Given the description of an element on the screen output the (x, y) to click on. 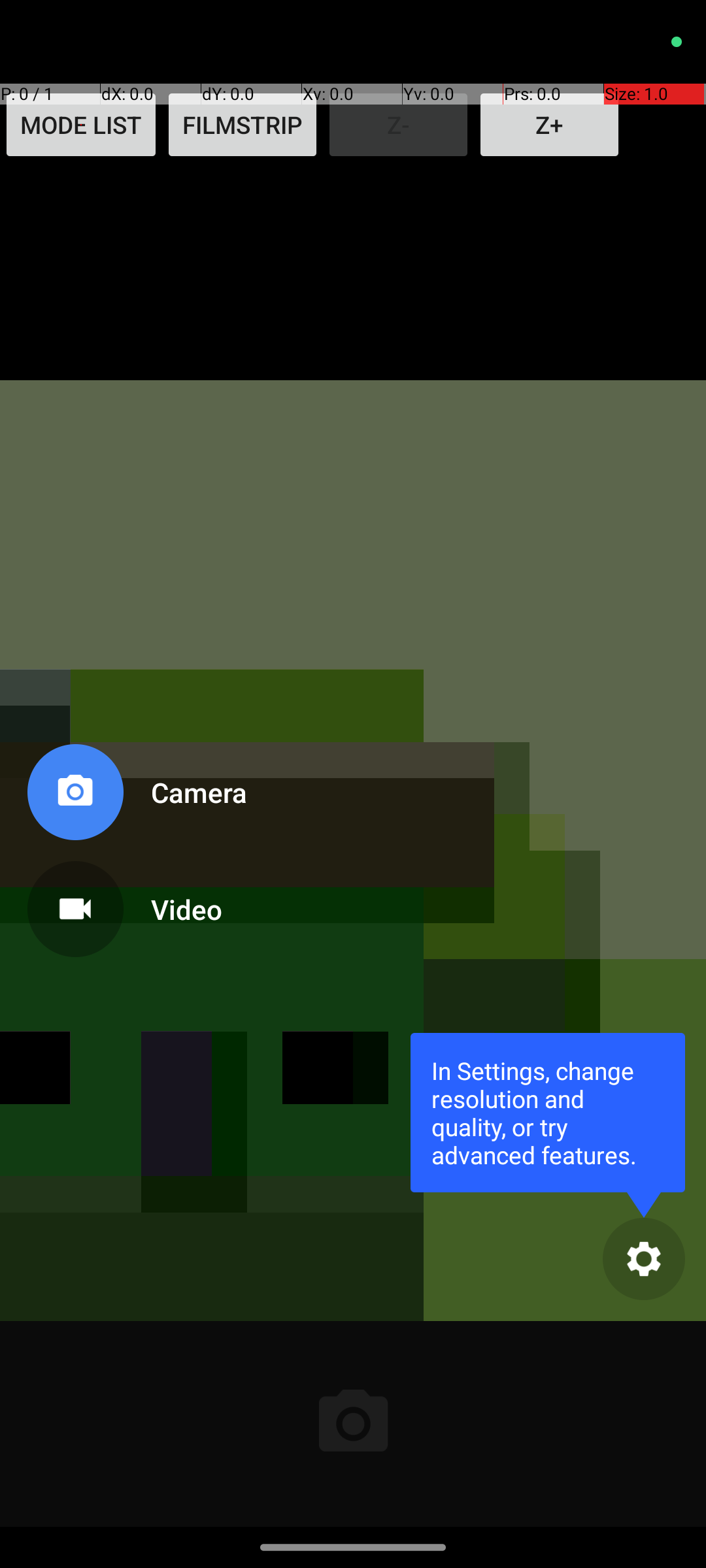
Switch to Camera Mode Element type: android.widget.FrameLayout (134, 797)
Switch to Video Camera Element type: android.widget.FrameLayout (134, 903)
In Settings, change resolution and quality, or try advanced features. Element type: android.widget.TextView (547, 1112)
